Given the description of an element on the screen output the (x, y) to click on. 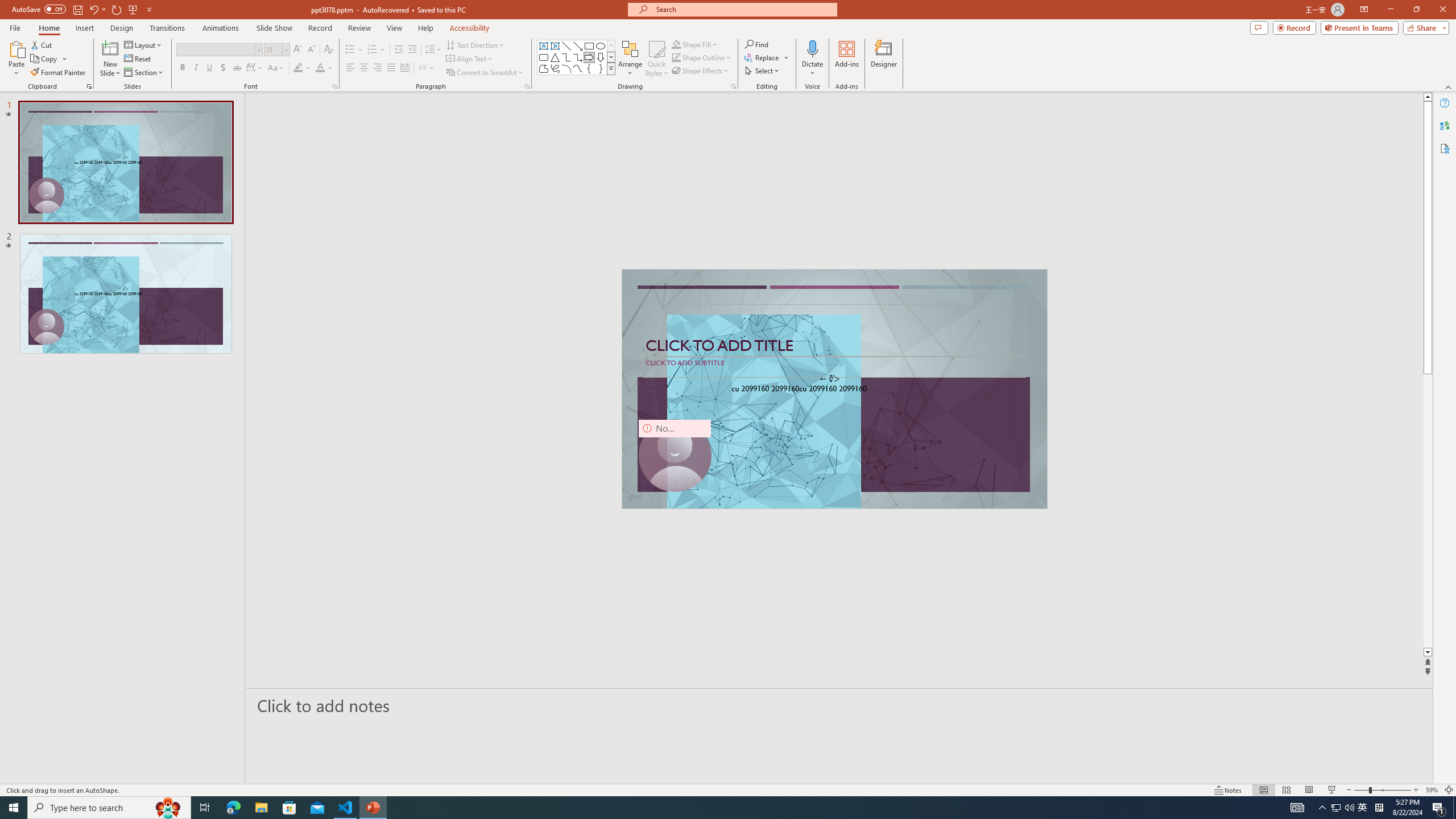
TextBox 61 (833, 389)
